Given the description of an element on the screen output the (x, y) to click on. 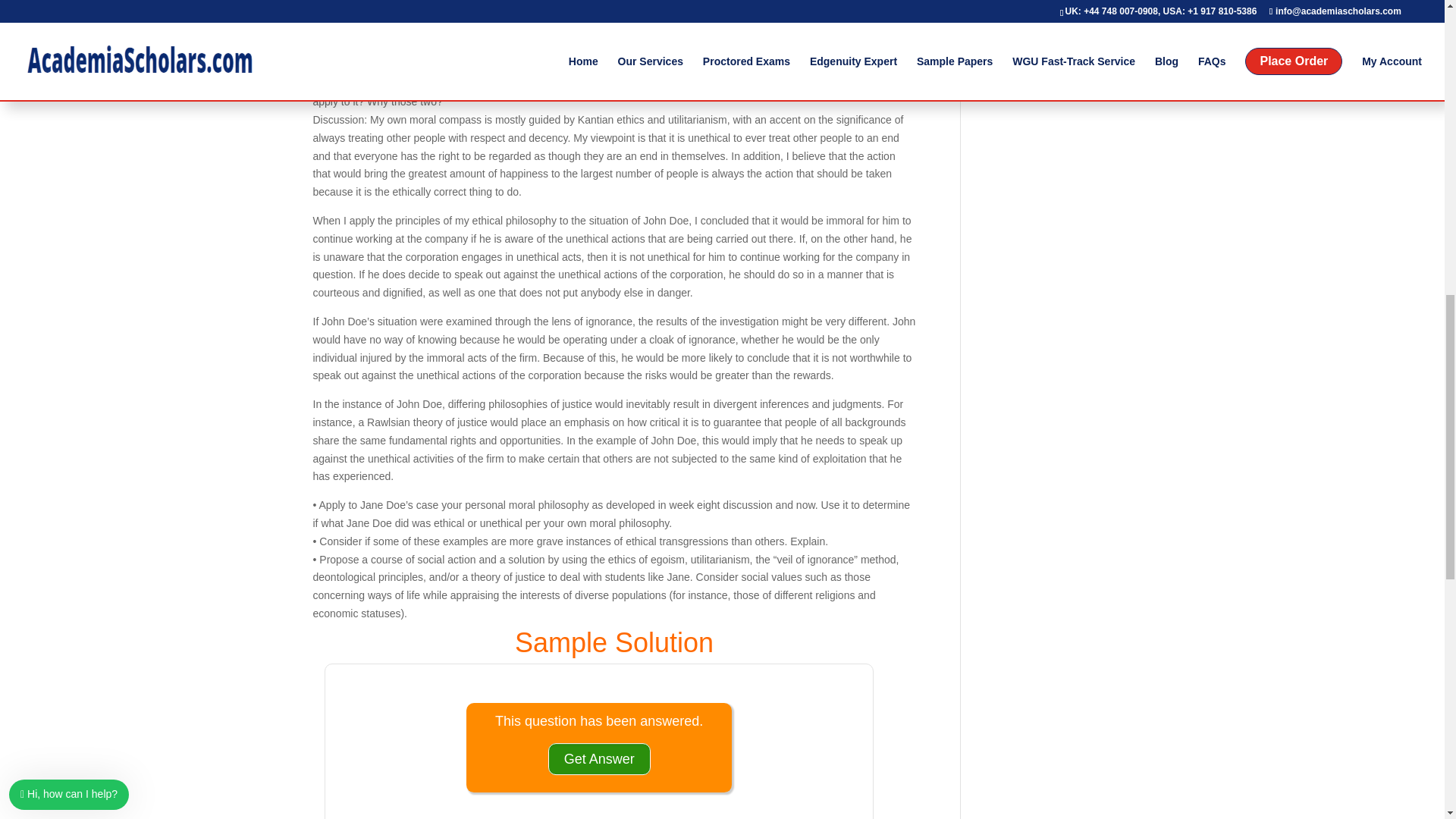
REQUEST QUOTATION (1057, 47)
Order Now (1057, 47)
Get Answer (599, 759)
REQUEST QUOTATION (1057, 47)
